Given the description of an element on the screen output the (x, y) to click on. 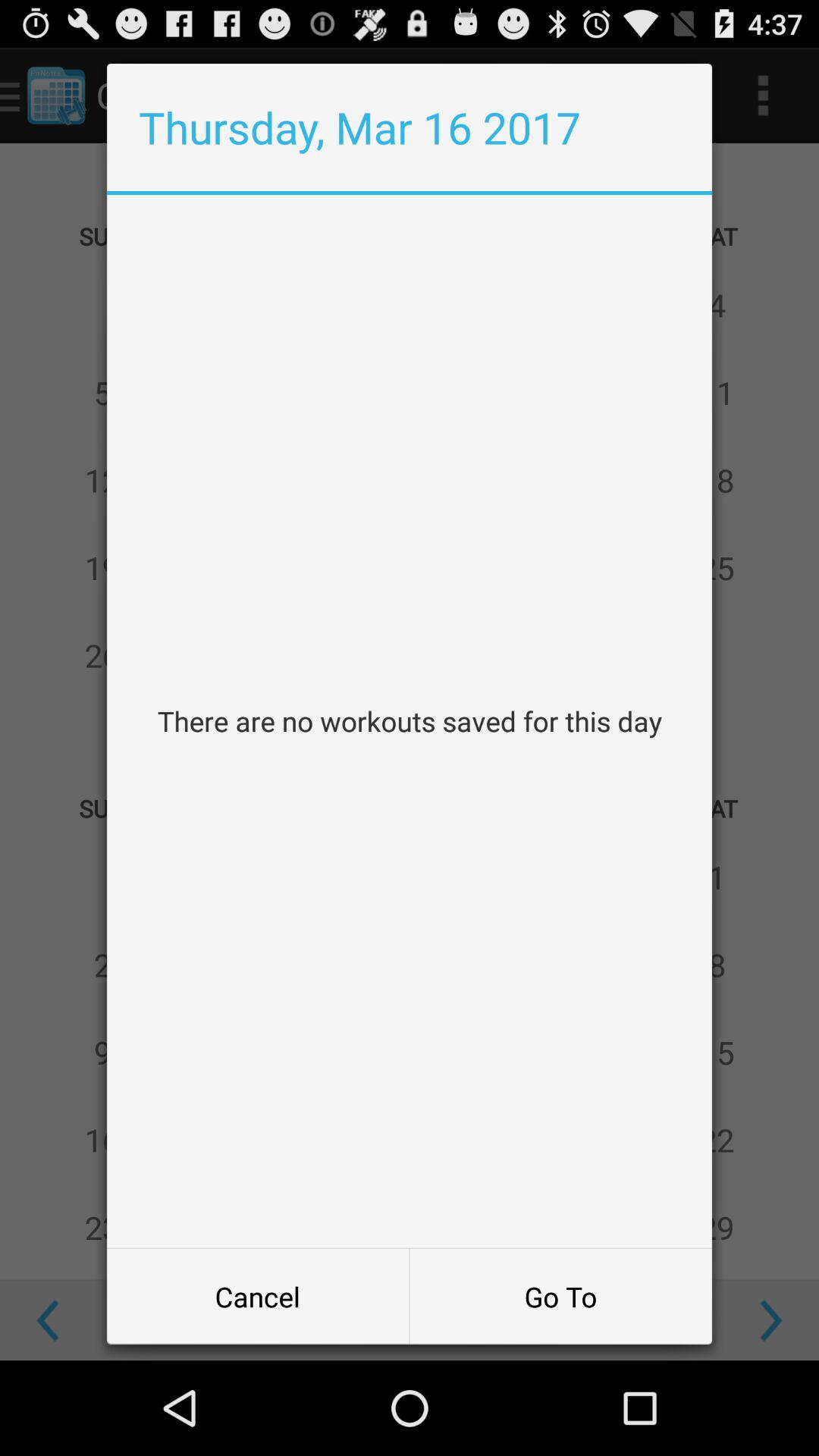
press go to at the bottom right corner (561, 1296)
